Given the description of an element on the screen output the (x, y) to click on. 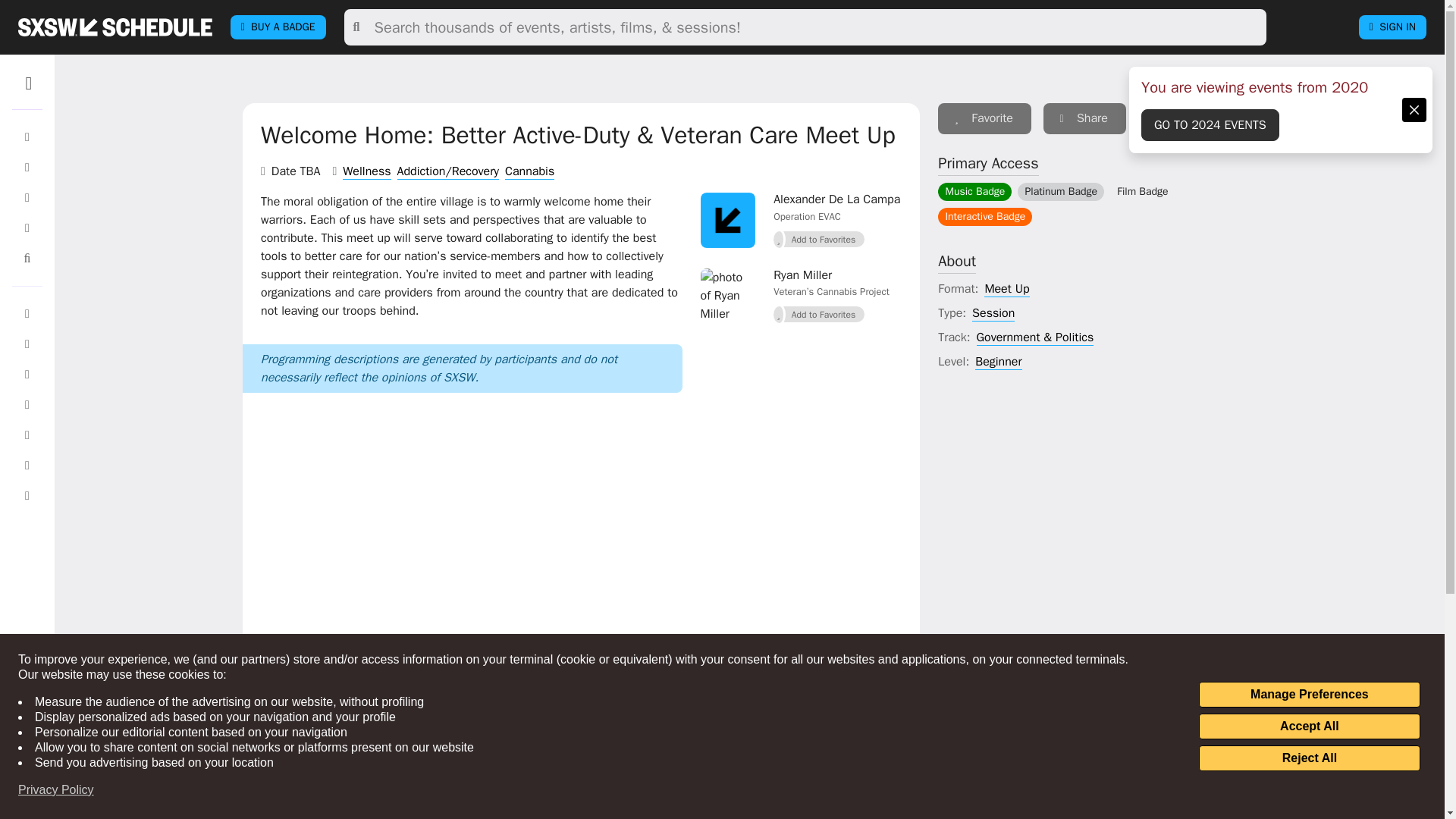
Accept All (1309, 726)
GO TO 2024 EVENTS (1210, 124)
Wellness (366, 171)
Privacy Policy (55, 789)
BUY A BADGE (278, 27)
sxsw SCHEDULE (114, 27)
SIGN IN (1392, 27)
Reject All (1309, 758)
Sign In to add to your favorites. (818, 314)
Manage Preferences (1309, 694)
